Given the description of an element on the screen output the (x, y) to click on. 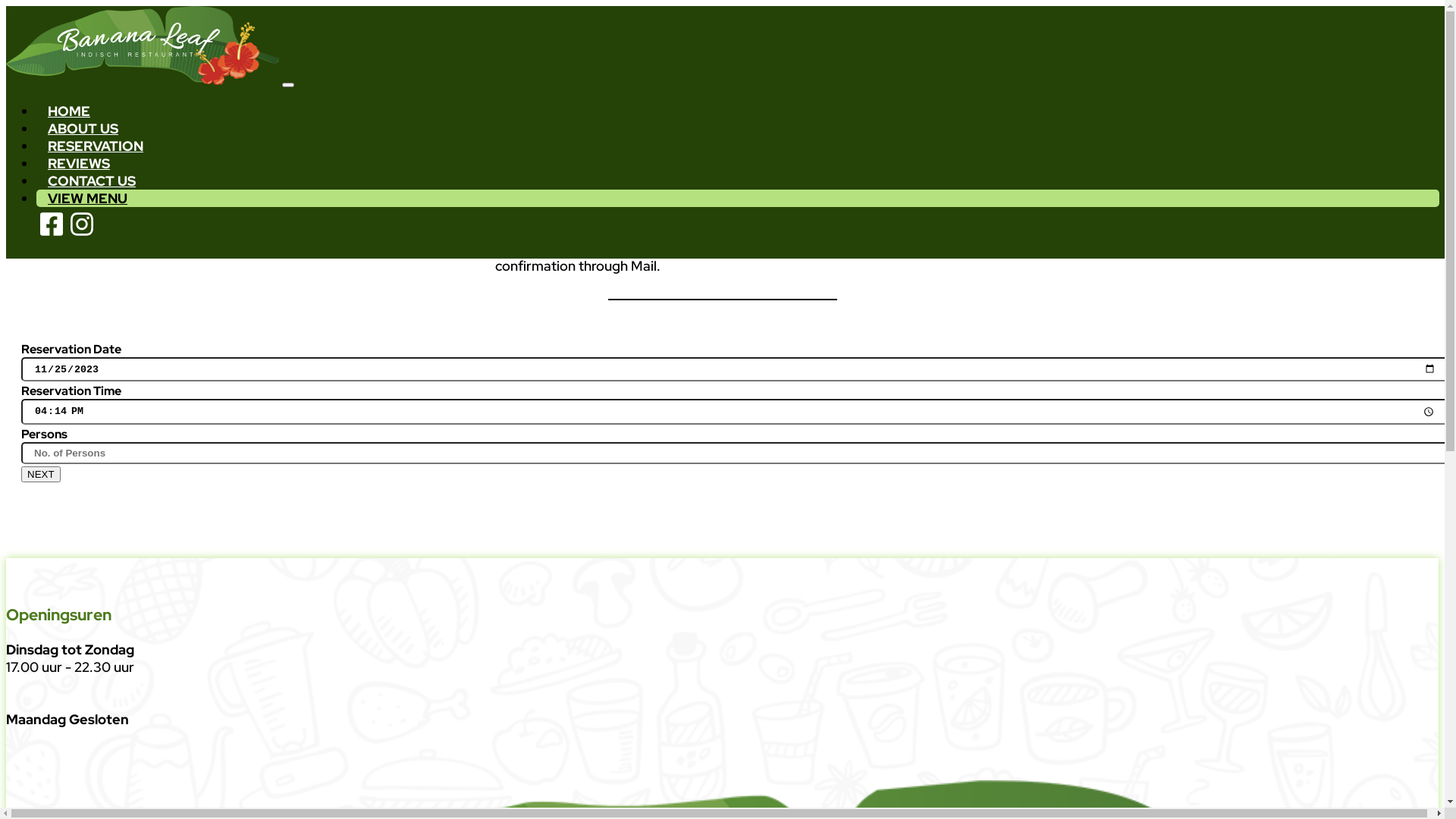
REVIEWS Element type: text (78, 163)
VIEW MENU Element type: text (87, 198)
HOME Element type: text (68, 110)
NEXT Element type: text (40, 474)
ABOUT US Element type: text (82, 128)
CONTACT US Element type: text (91, 180)
RESERVATION Element type: text (95, 145)
